Given the description of an element on the screen output the (x, y) to click on. 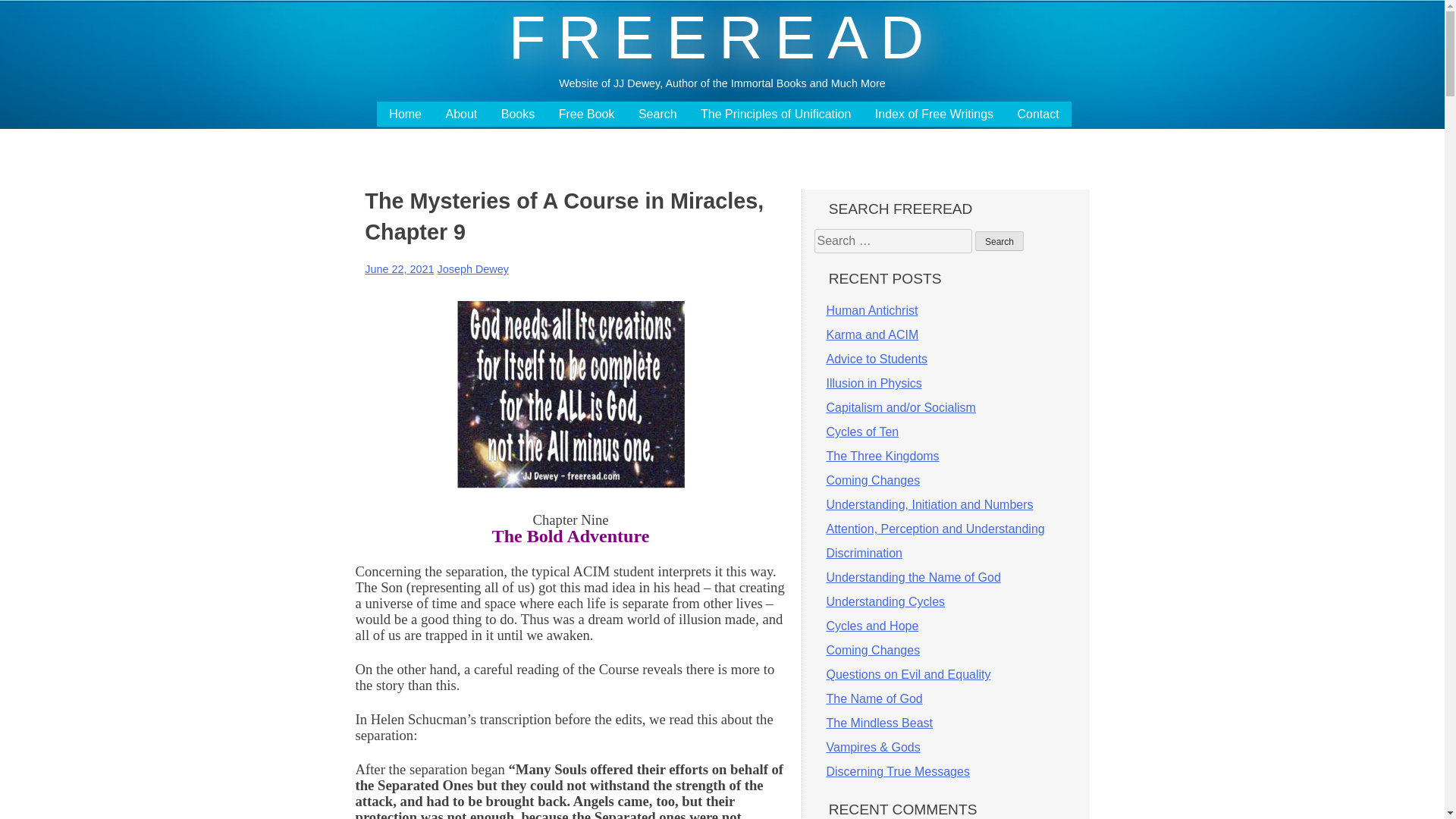
Joseph Dewey (473, 268)
Search (658, 114)
Free Book (586, 114)
Books (517, 114)
June 22, 2021 (399, 268)
Index of Free Writings (933, 114)
About (461, 114)
Search (999, 240)
The Principles of Unification (775, 114)
Contact (1038, 114)
